Given the description of an element on the screen output the (x, y) to click on. 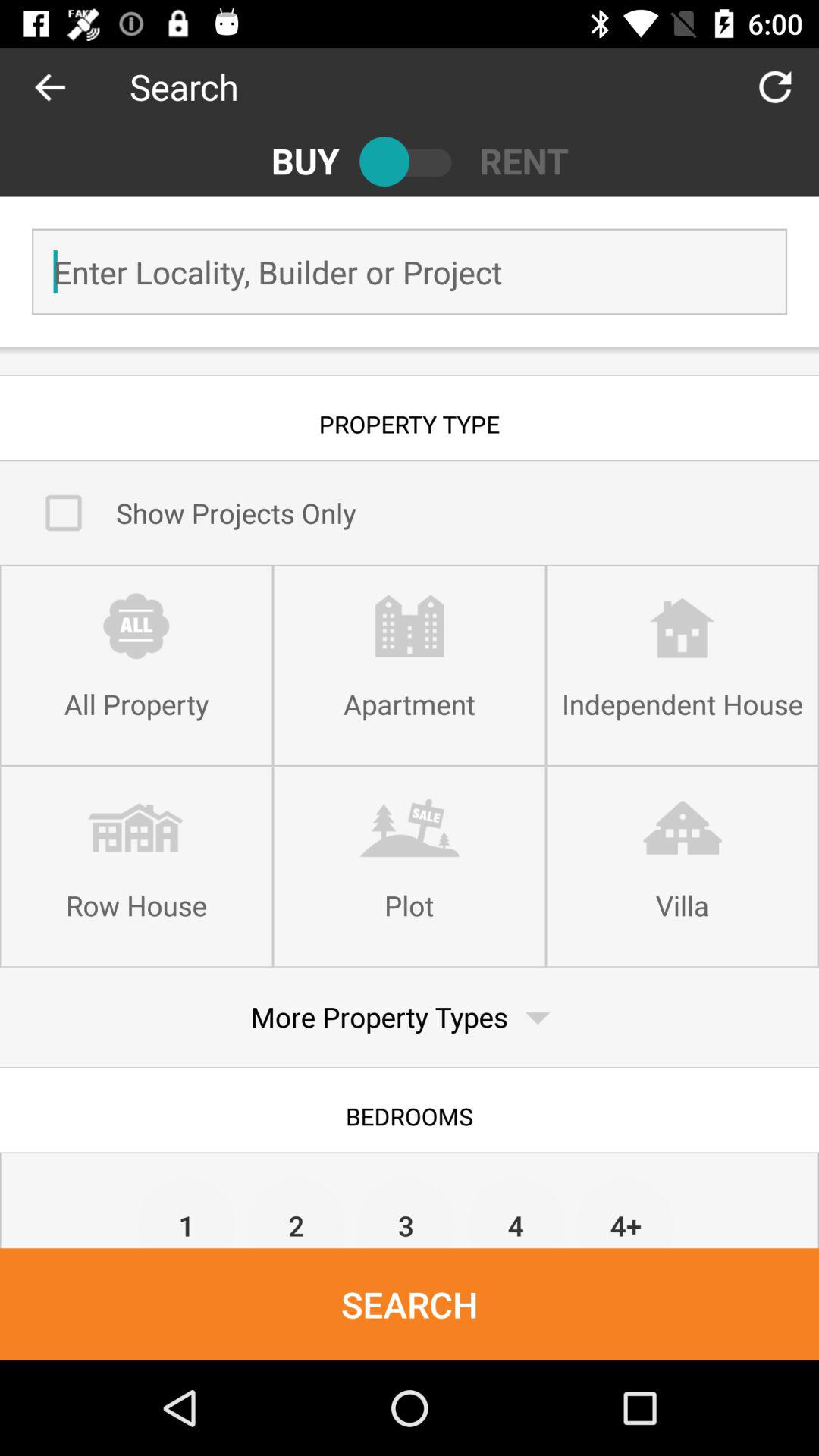
click the item to the right of buy (409, 161)
